Given the description of an element on the screen output the (x, y) to click on. 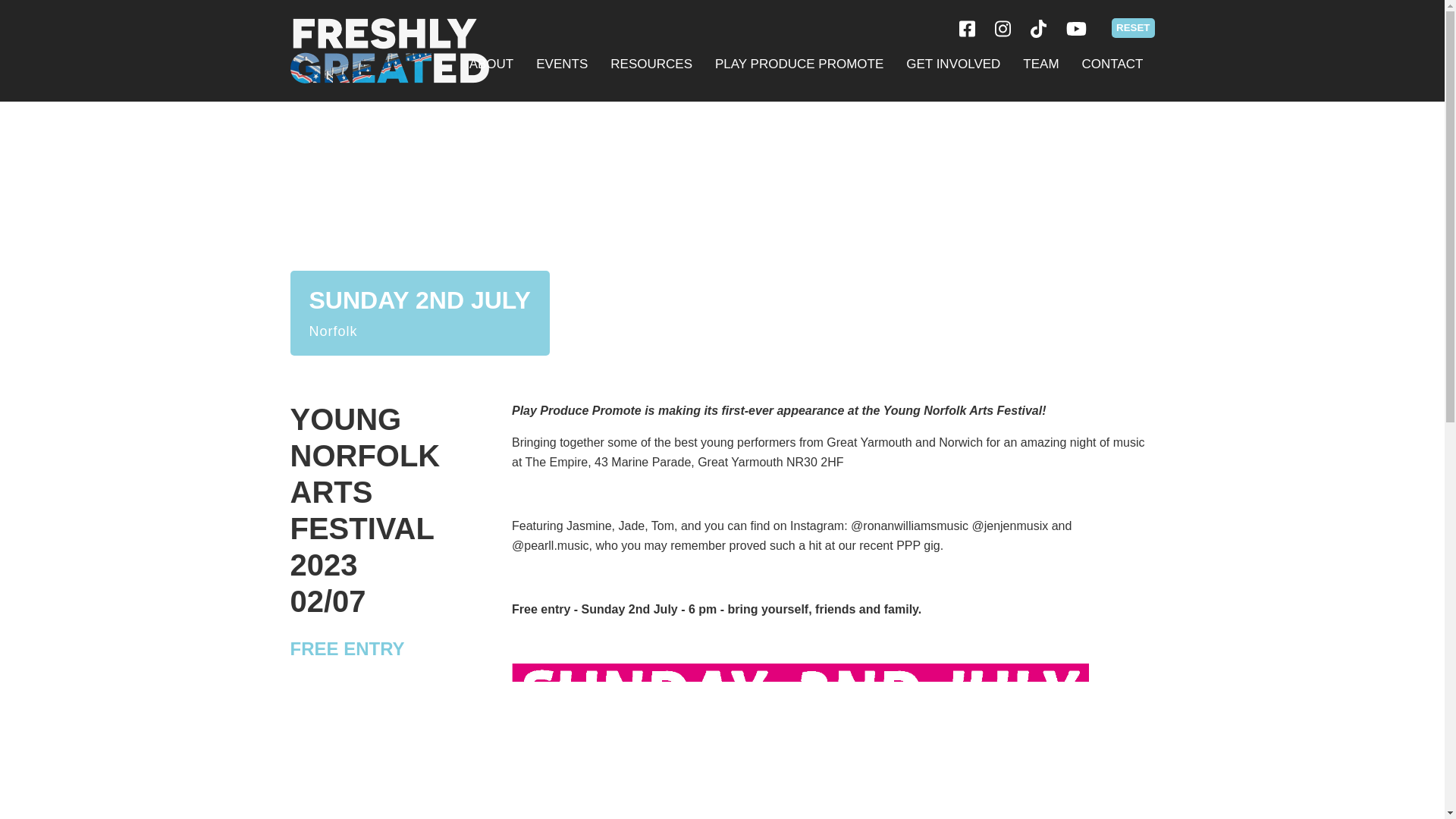
GET INVOLVED (953, 63)
TEAM (1040, 63)
CONTACT (1112, 63)
PLAY PRODUCE PROMOTE (799, 63)
RESOURCES (650, 63)
ABOUT (491, 63)
RESET (1133, 27)
EVENTS (561, 63)
